Given the description of an element on the screen output the (x, y) to click on. 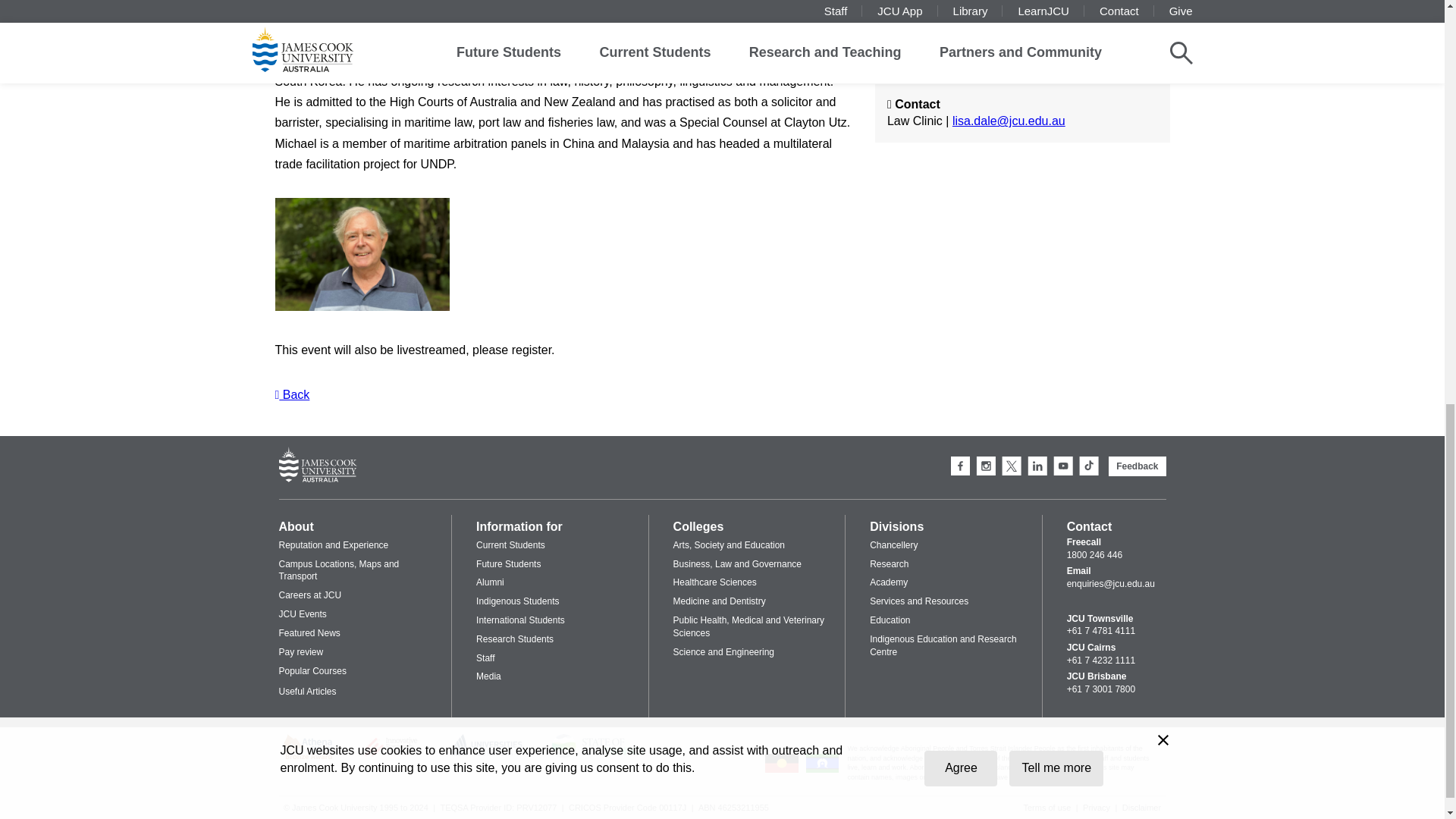
Go to JCU Instagram (985, 465)
Go to JCU home page (317, 465)
State of the tropics (598, 755)
Go to Indigenous Education and Research Centre (823, 770)
Go to JCU TikTok (1088, 465)
Innovative Research Universities (391, 759)
Universities Australia (486, 753)
Go to JCU Twitter (1011, 465)
Go to Indigenous Education and Research Centre (781, 770)
Go to JCU LinkedIn (1036, 465)
Go to JCU Youtube (1062, 465)
Go to JCU Facebook (959, 465)
JCU feedback (1137, 465)
Athena SWAN Bronze Award (308, 756)
